Given the description of an element on the screen output the (x, y) to click on. 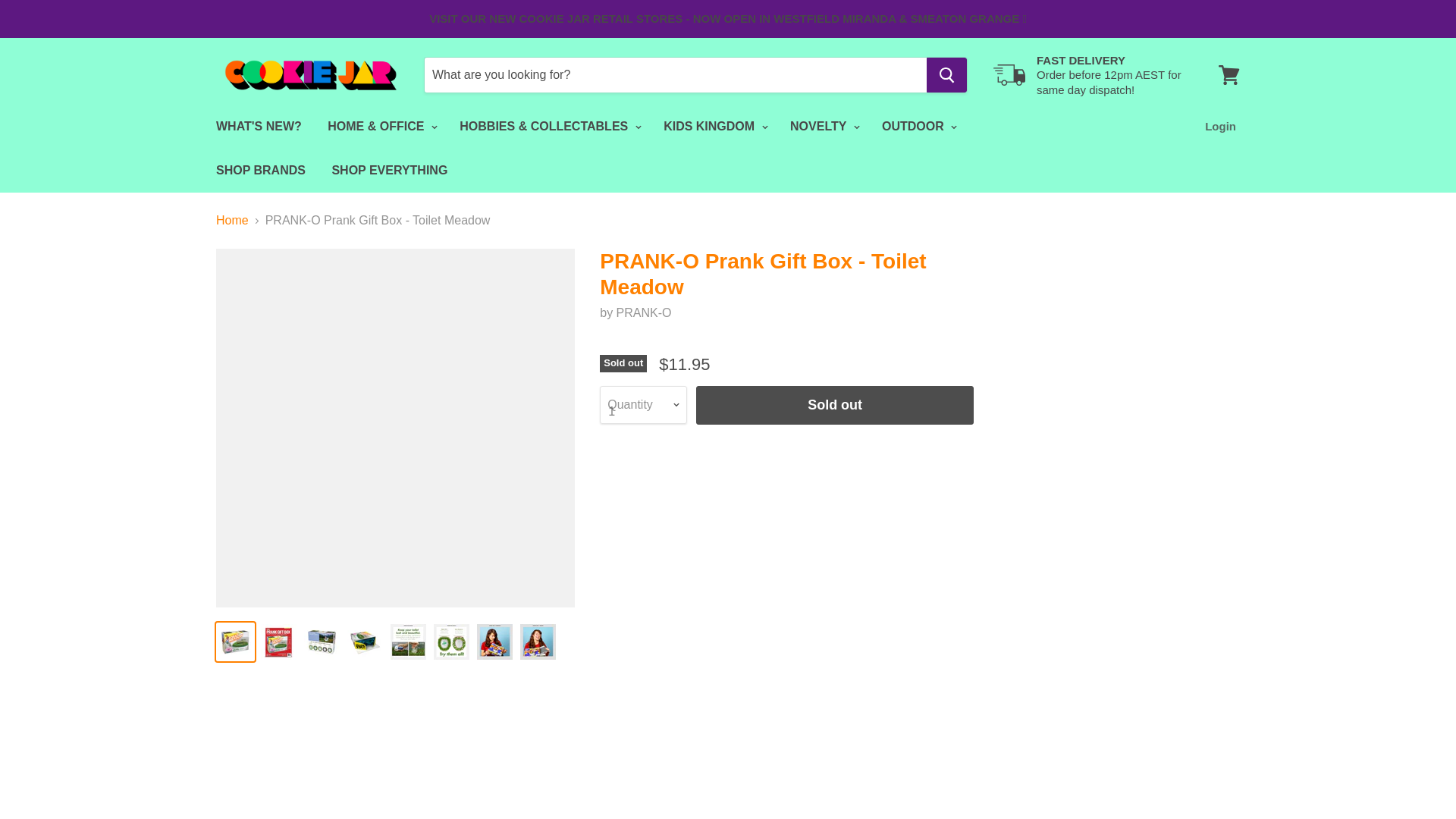
KIDS KINGDOM (713, 126)
WHAT'S NEW? (259, 126)
View cart (1090, 75)
